Given the description of an element on the screen output the (x, y) to click on. 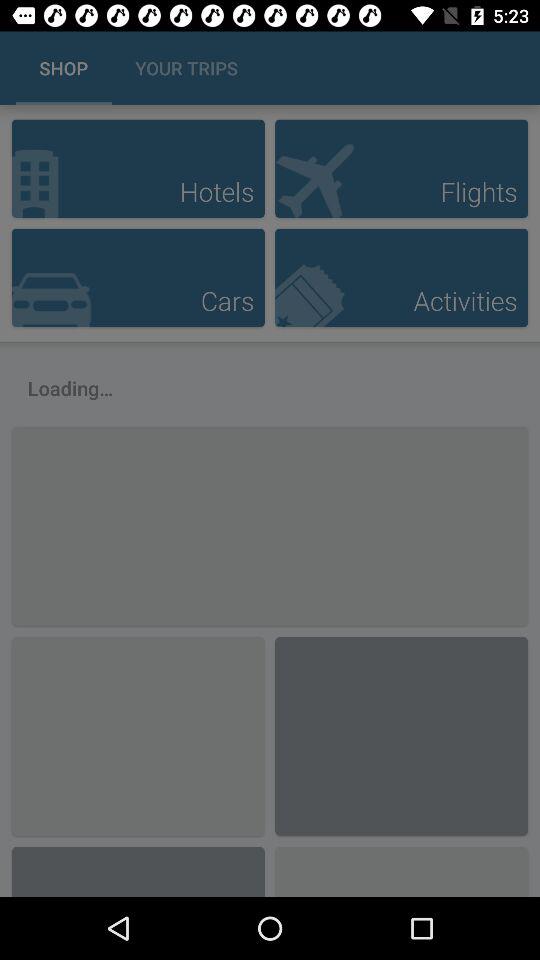
hotel category (138, 168)
